Given the description of an element on the screen output the (x, y) to click on. 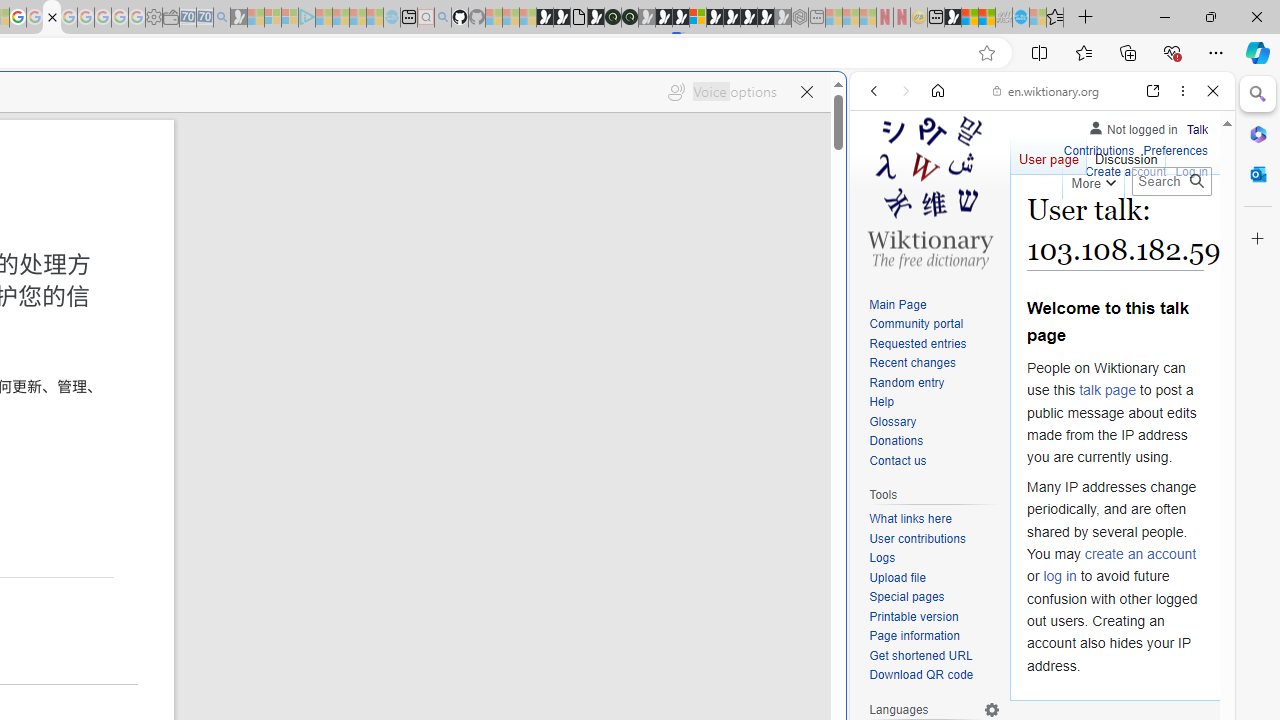
Discussion (1125, 154)
User page (1048, 154)
Random entry (906, 382)
Close read aloud (805, 92)
Go (1196, 181)
Download QR code (921, 675)
talk page (1107, 390)
Create account (1125, 172)
Main Page (897, 303)
